Given the description of an element on the screen output the (x, y) to click on. 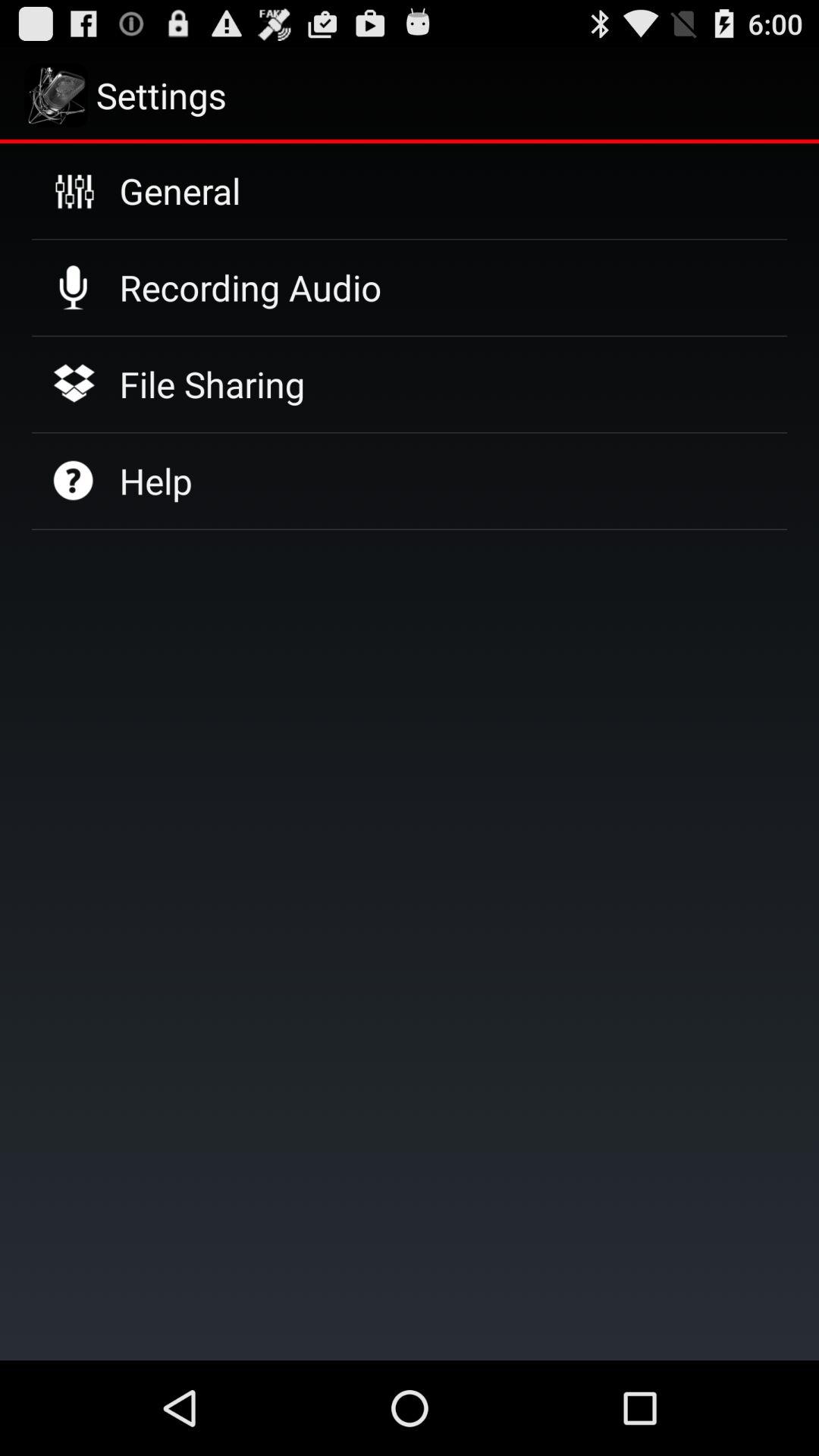
turn off the item below file sharing (155, 480)
